Given the description of an element on the screen output the (x, y) to click on. 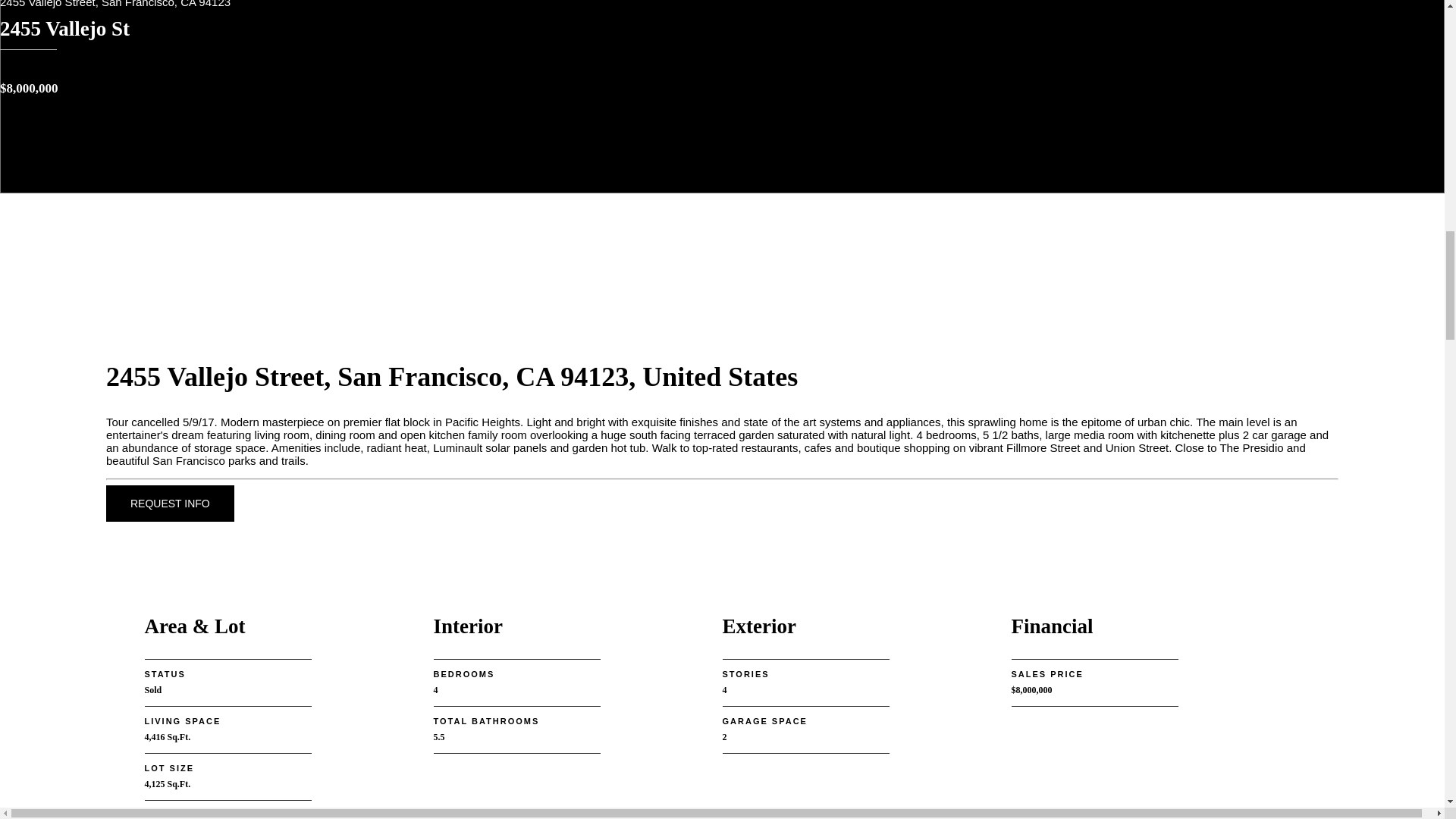
REQUEST INFO (170, 503)
